Given the description of an element on the screen output the (x, y) to click on. 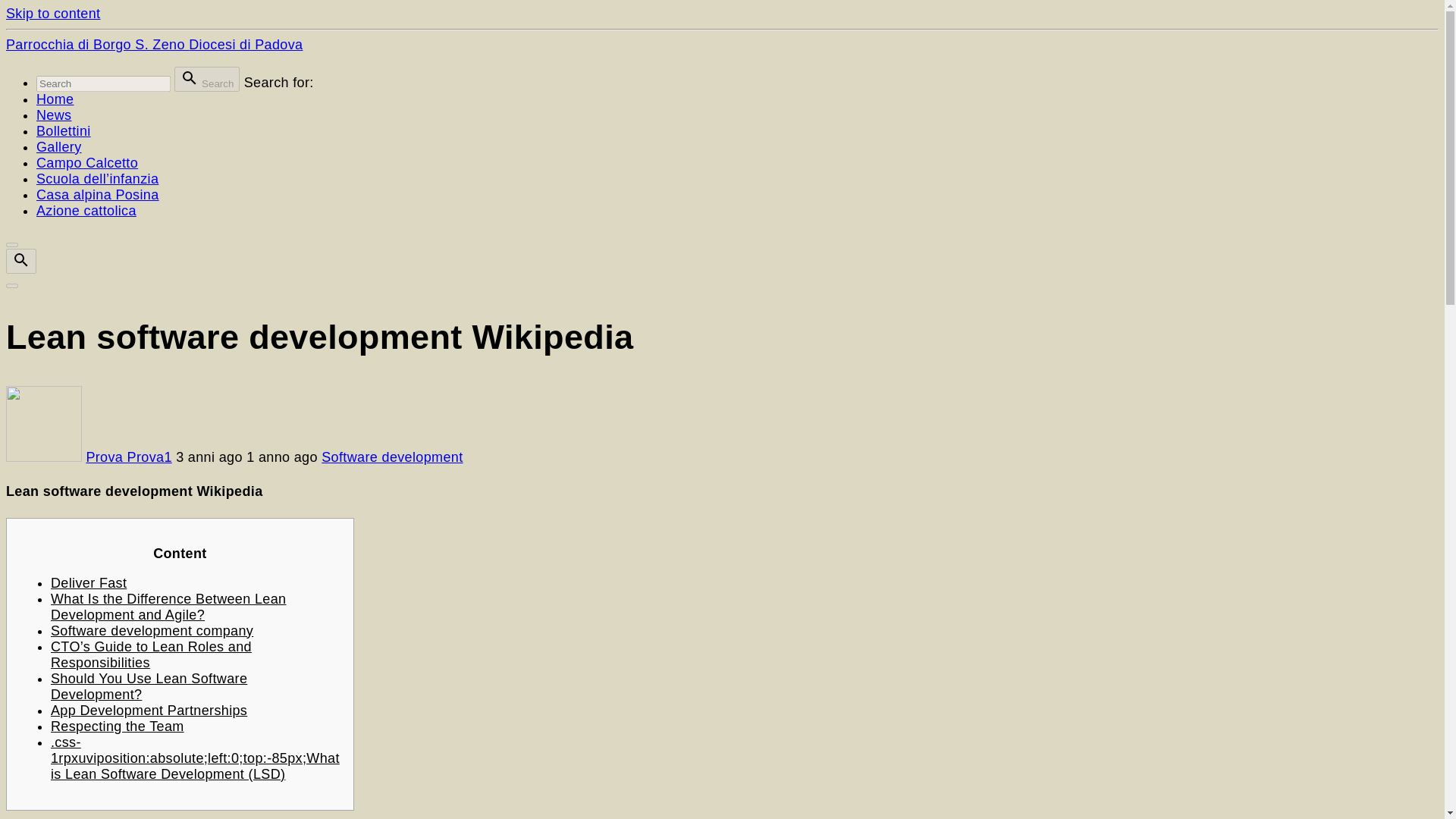
Bollettini (63, 130)
Prova Prova1 (128, 457)
Home (55, 99)
Software development (392, 457)
Software development company (151, 630)
Deliver Fast (88, 582)
Azione cattolica (86, 210)
Should You Use Lean Software Development? (148, 685)
Gallery (58, 146)
Parrocchia di Borgo S. Zeno Diocesi di Padova (153, 44)
Campo Calcetto (87, 162)
What Is the Difference Between Lean Development and Agile? (167, 606)
Respecting the Team (117, 726)
Casa alpina Posina (97, 194)
App Development Partnerships (148, 710)
